Given the description of an element on the screen output the (x, y) to click on. 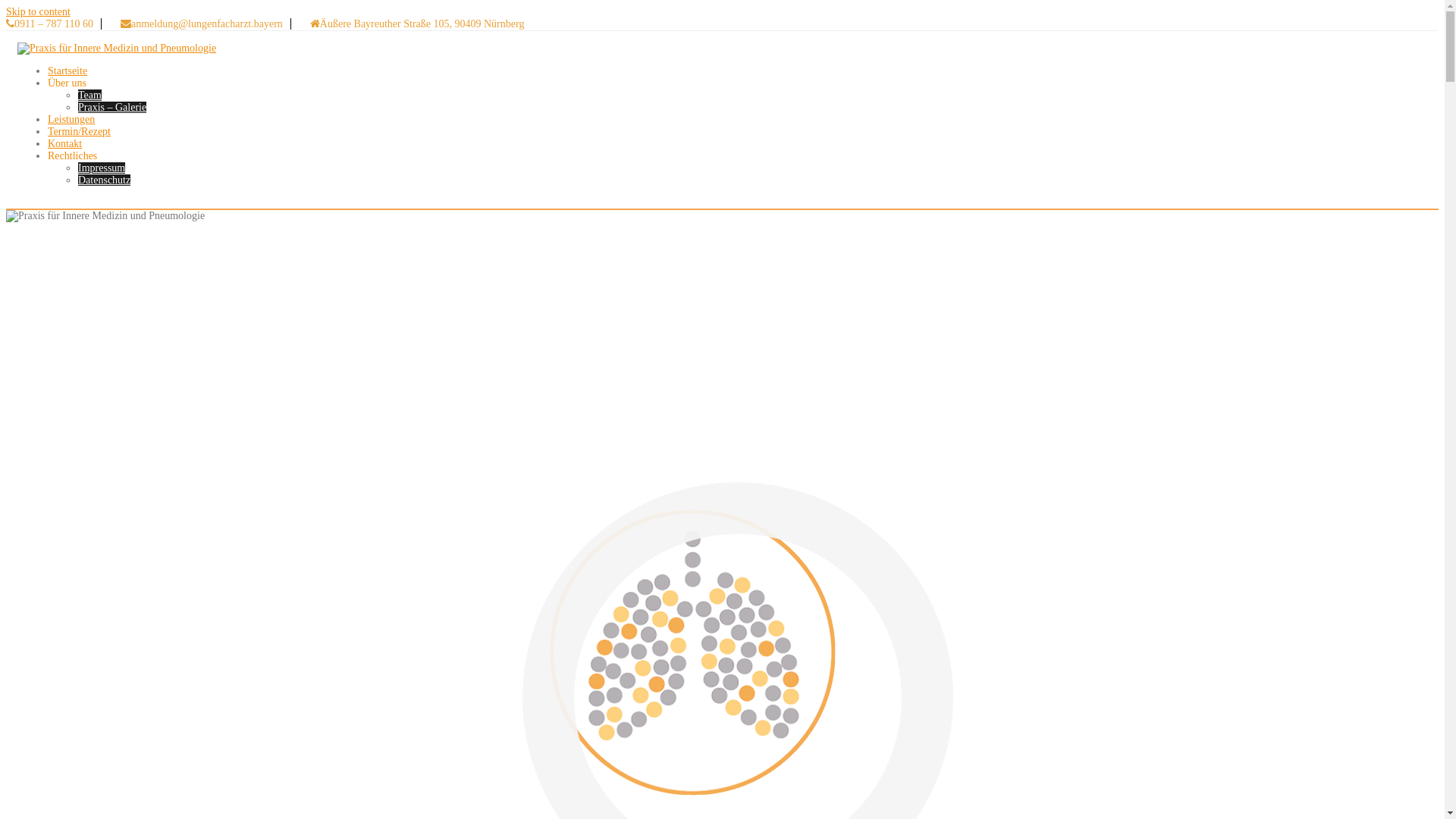
Skip to content Element type: text (38, 11)
Impressum Element type: text (101, 167)
Datenschutz Element type: text (104, 179)
Rechtliches Element type: text (72, 155)
Team Element type: text (89, 94)
Termin/Rezept Element type: text (78, 131)
Startseite Element type: text (67, 70)
Leistungen Element type: text (70, 119)
Kontakt Element type: text (64, 143)
